Given the description of an element on the screen output the (x, y) to click on. 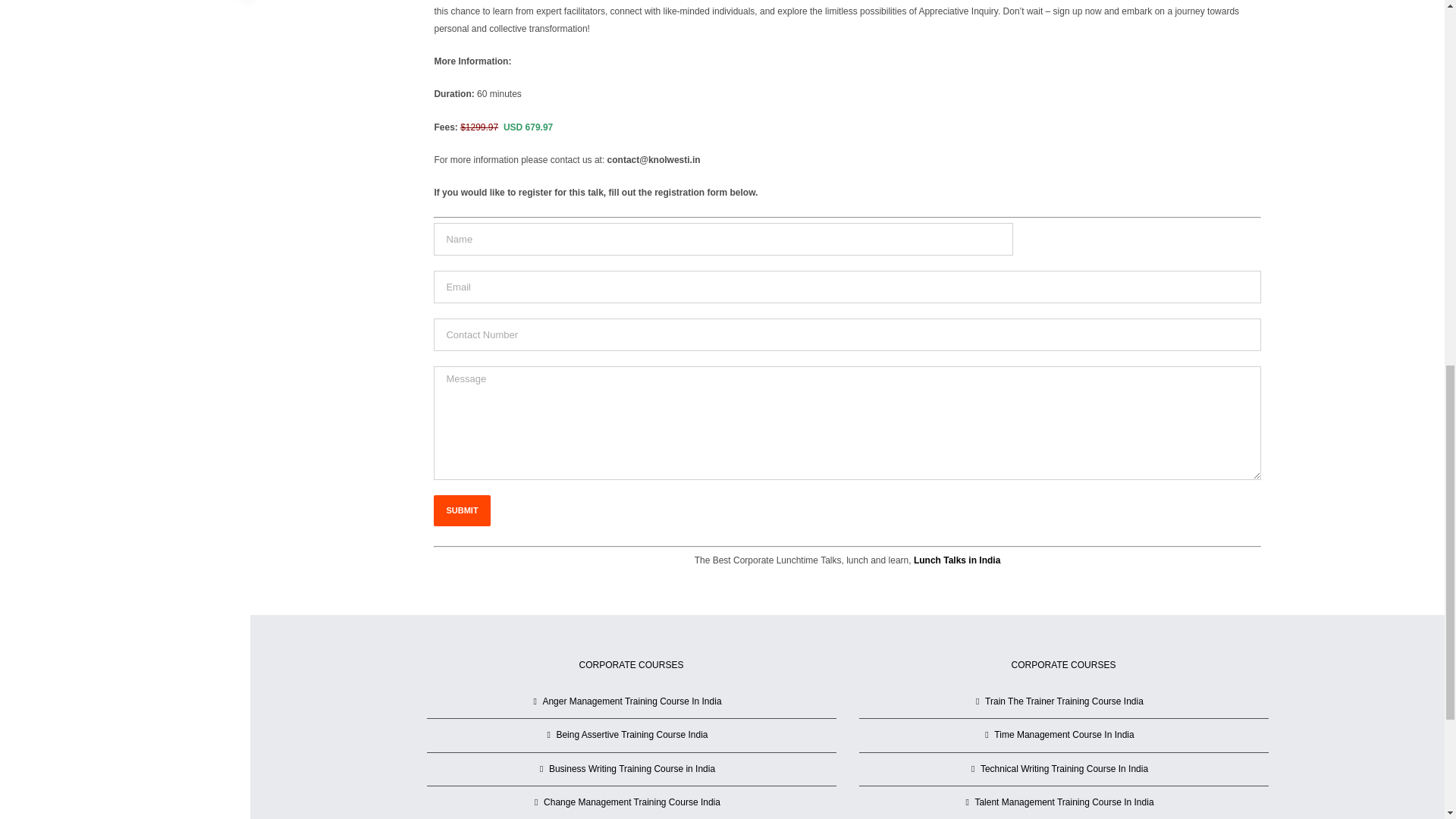
Train The Trainer Training Course India (1063, 701)
Technical Writing Training Course In India (1063, 769)
Talent Management Training Course In India (1063, 802)
Time Management Course In India (1063, 734)
submit (461, 510)
Anger Management Training Course In India (631, 701)
Change Management Training Course India (631, 802)
submit (461, 510)
Being Assertive Training Course India (631, 734)
Lunch Talks in India (957, 560)
Business Writing Training Course in India (631, 769)
